Given the description of an element on the screen output the (x, y) to click on. 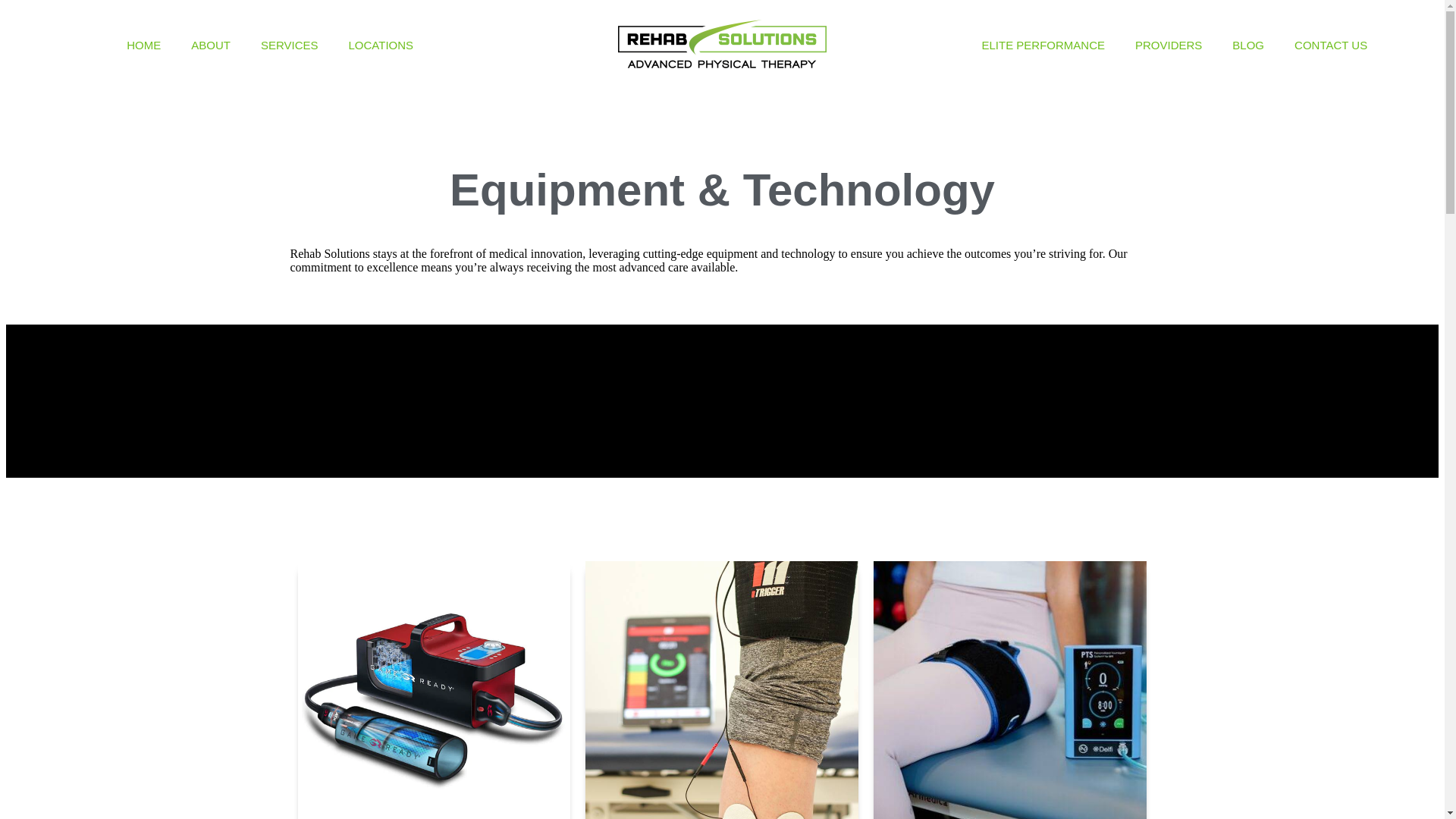
ABOUT (211, 45)
LOCATIONS (381, 45)
HOME (144, 45)
SERVICES (289, 45)
